Given the description of an element on the screen output the (x, y) to click on. 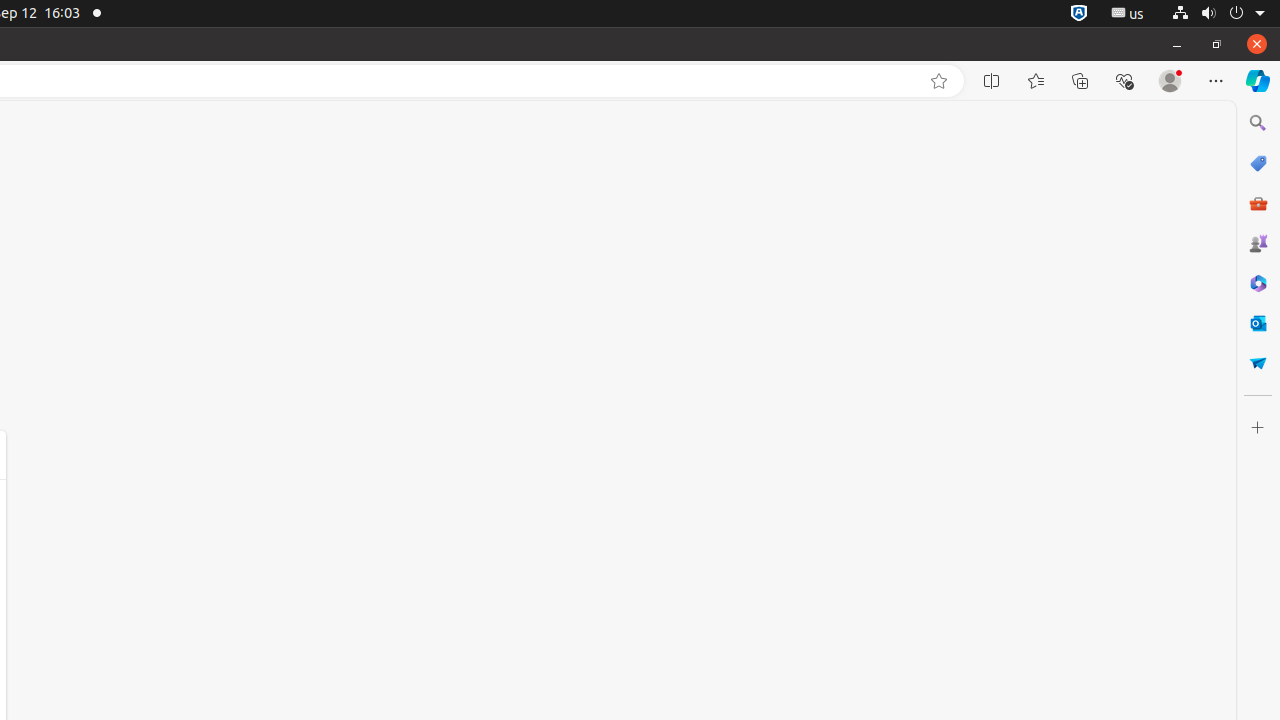
Drop Element type: push-button (1258, 363)
Settings and more (Alt+F) Element type: push-button (1216, 81)
Split screen Element type: push-button (992, 81)
Browser essentials Element type: push-button (1124, 81)
